Given the description of an element on the screen output the (x, y) to click on. 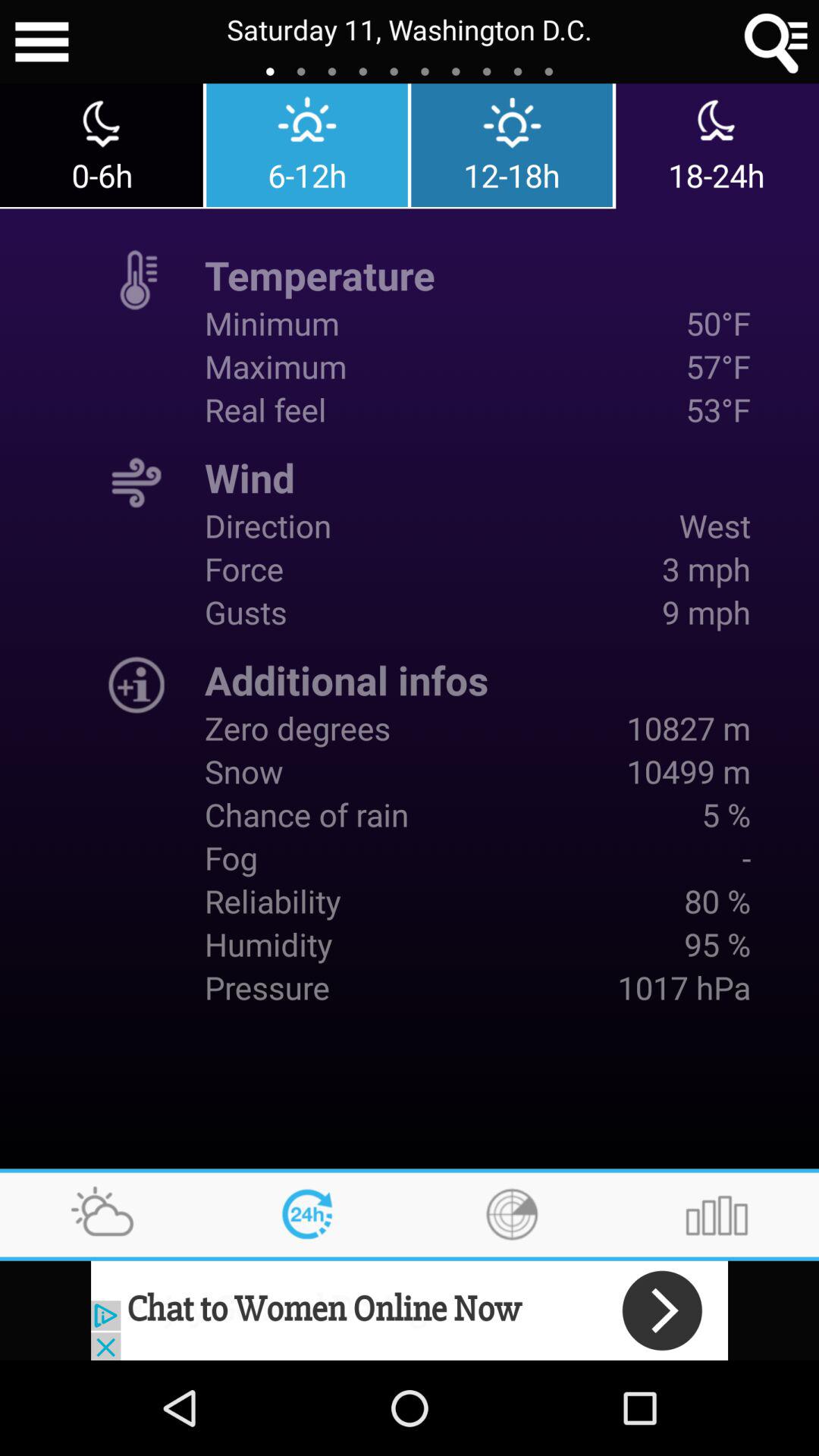
search (777, 41)
